Given the description of an element on the screen output the (x, y) to click on. 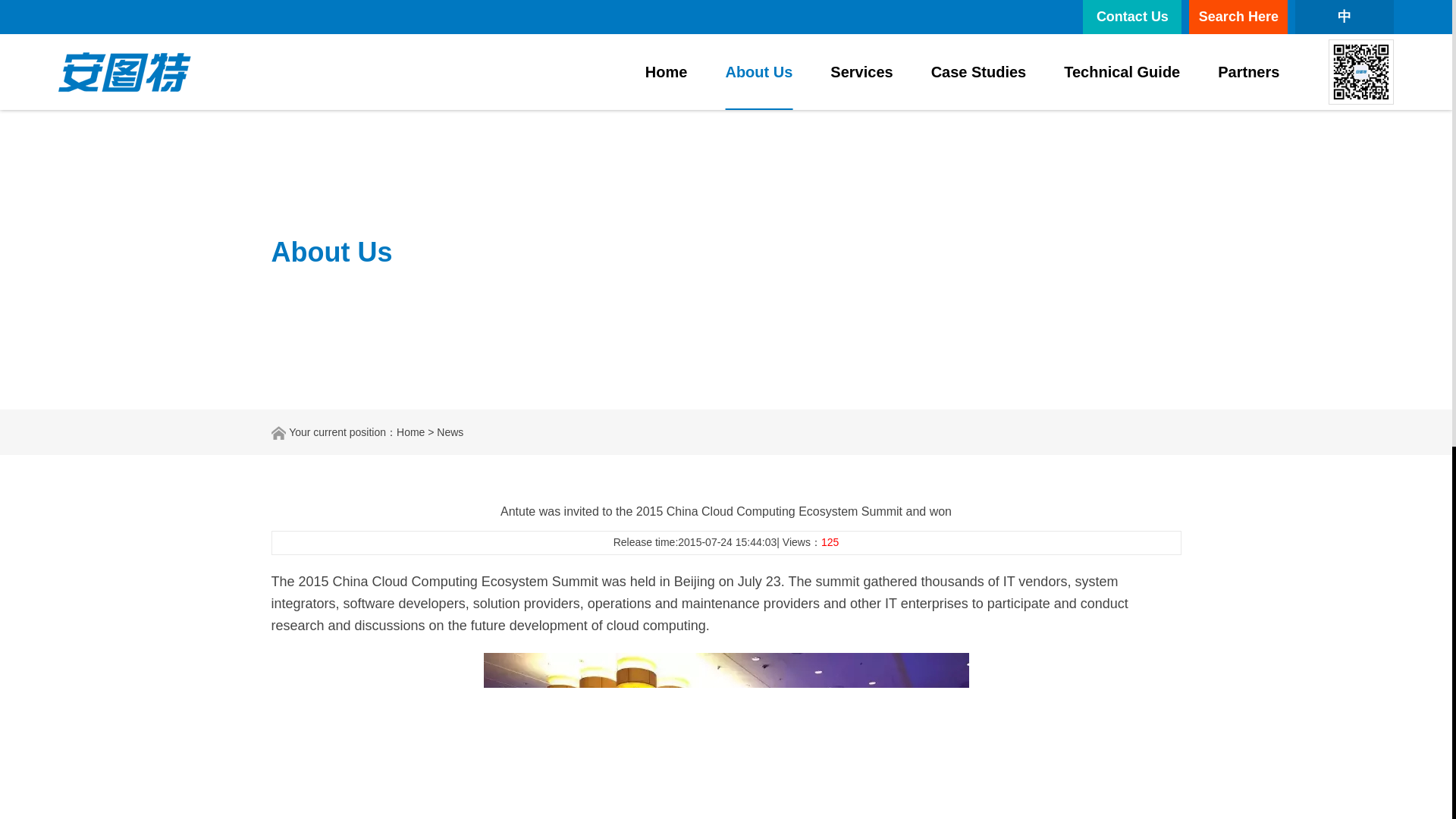
Case Studies (978, 71)
Home (666, 71)
1617004052303080.jpg (726, 735)
Contact Us (1131, 17)
Home (410, 431)
Search Here (1238, 17)
Partners (1248, 71)
Technical Guide (1121, 71)
About Us (758, 71)
Services (860, 71)
